Given the description of an element on the screen output the (x, y) to click on. 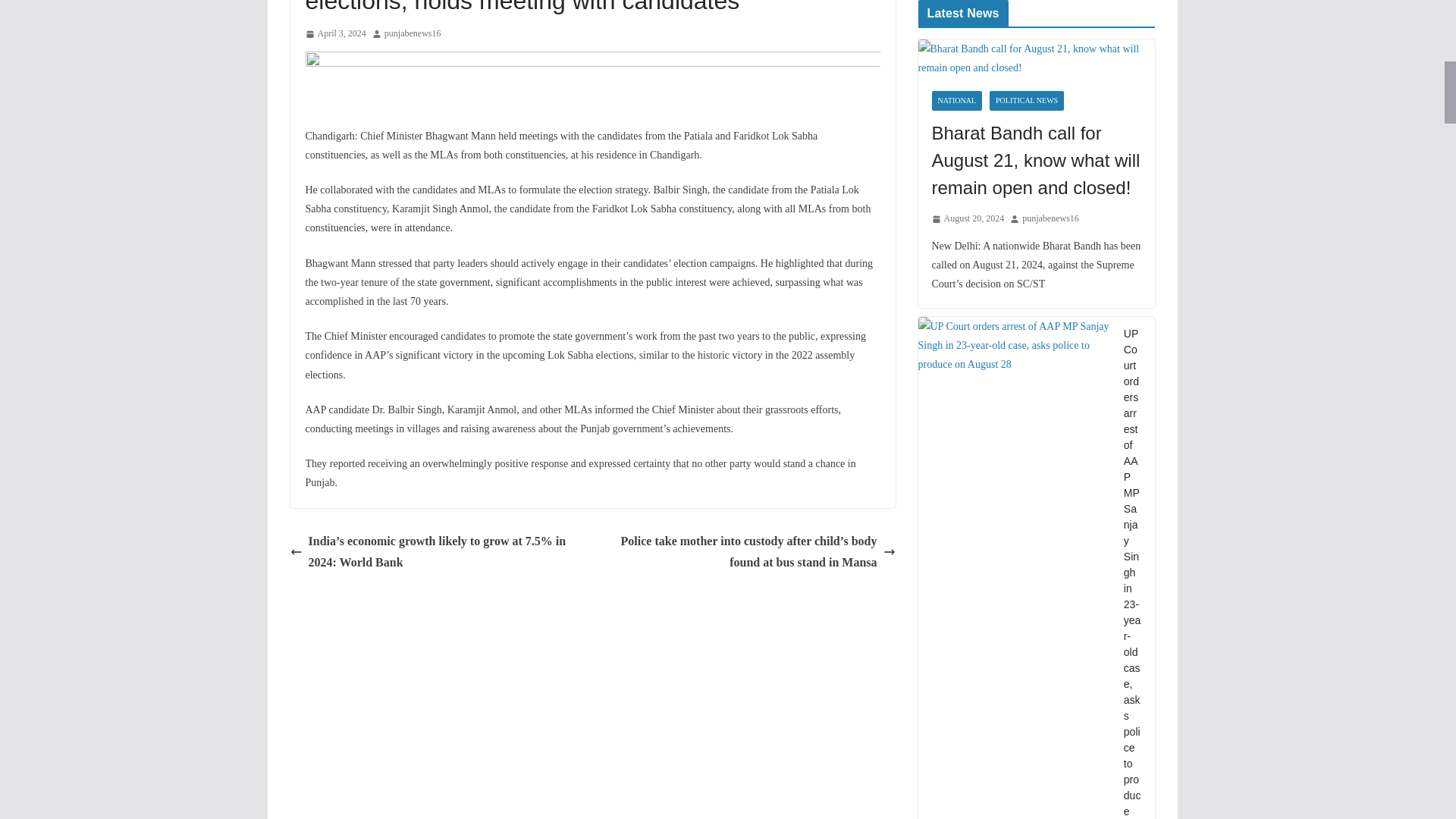
punjabenews16 (1050, 218)
4:42 pm (967, 218)
punjabenews16 (412, 33)
punjabenews16 (1050, 218)
6:53 am (334, 33)
punjabenews16 (412, 33)
POLITICAL NEWS (1027, 100)
